Given the description of an element on the screen output the (x, y) to click on. 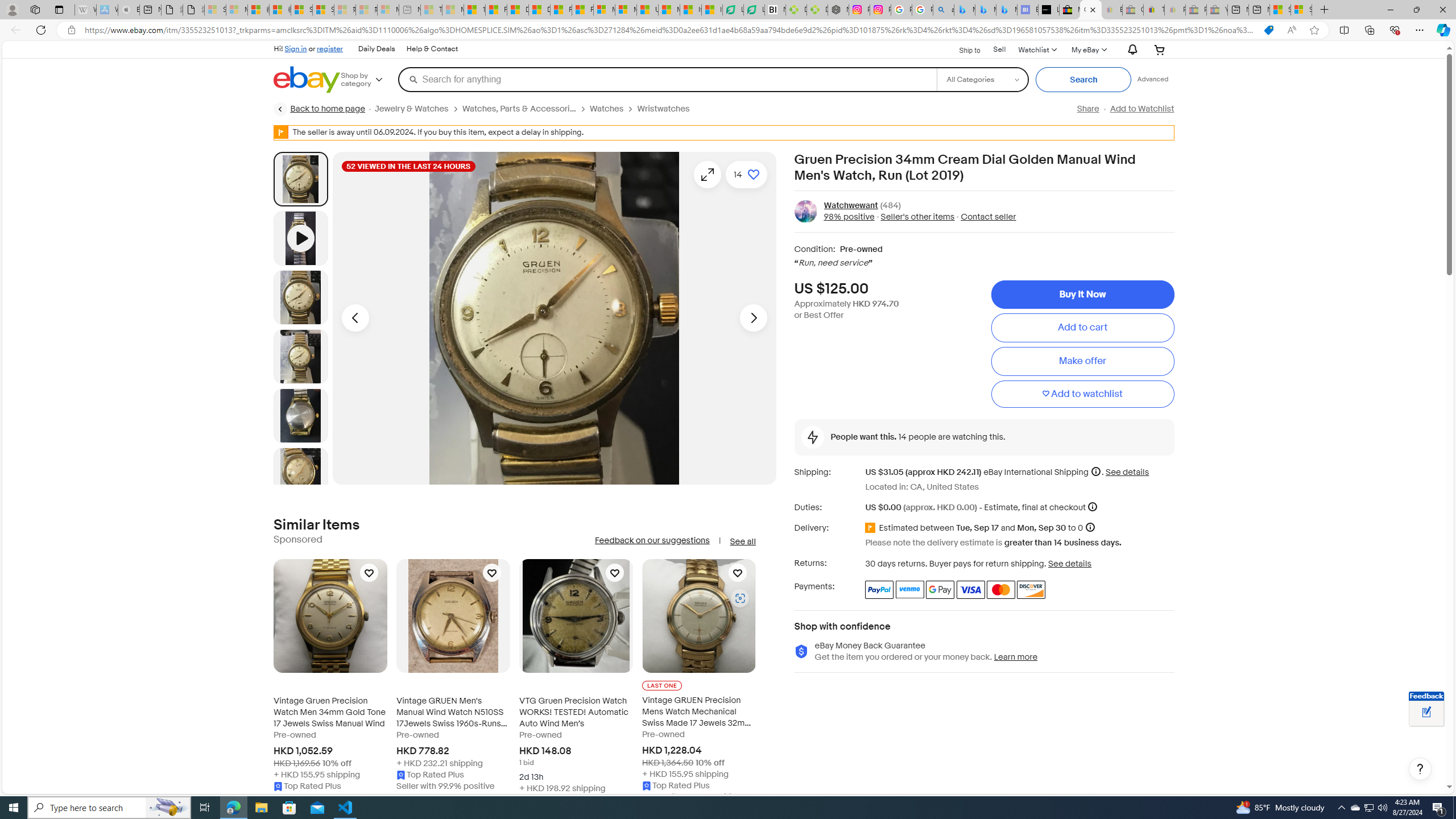
Daily Deals (376, 49)
Make offer (1082, 361)
98% positive (849, 216)
Ship to (962, 48)
Microsoft account | Account Checkup - Sleeping (387, 9)
Picture 4 of 13 (300, 415)
Help & Contact (432, 49)
Leave feedback about your eBay ViewItem experience (1426, 713)
Advanced Search (1152, 78)
Add to cart (1082, 328)
Jewelry & Watches (411, 108)
